Given the description of an element on the screen output the (x, y) to click on. 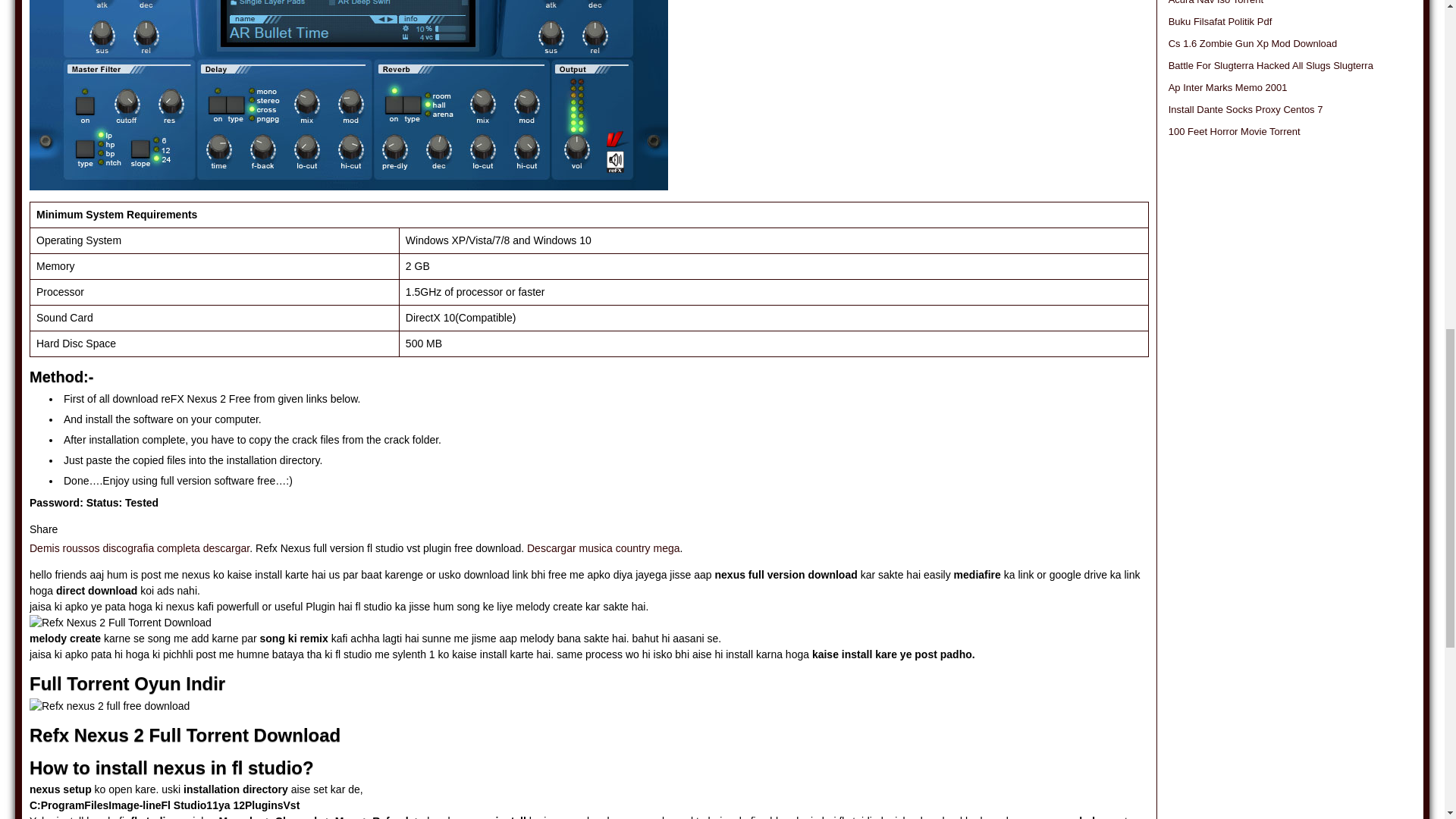
Cs 1.6 Zombie Gun Xp Mod Download (1253, 43)
Refx Nexus 2 Full Torrent Download (120, 622)
Descargar musica country mega (603, 548)
Buku Filsafat Politik Pdf (1220, 21)
Demis roussos discografia completa descargar (138, 548)
Acura Nav Iso Torrent (1216, 2)
Demis roussos discografia completa descargar (138, 548)
Download (348, 95)
Refx nexus 2 full free download (109, 706)
